Given the description of an element on the screen output the (x, y) to click on. 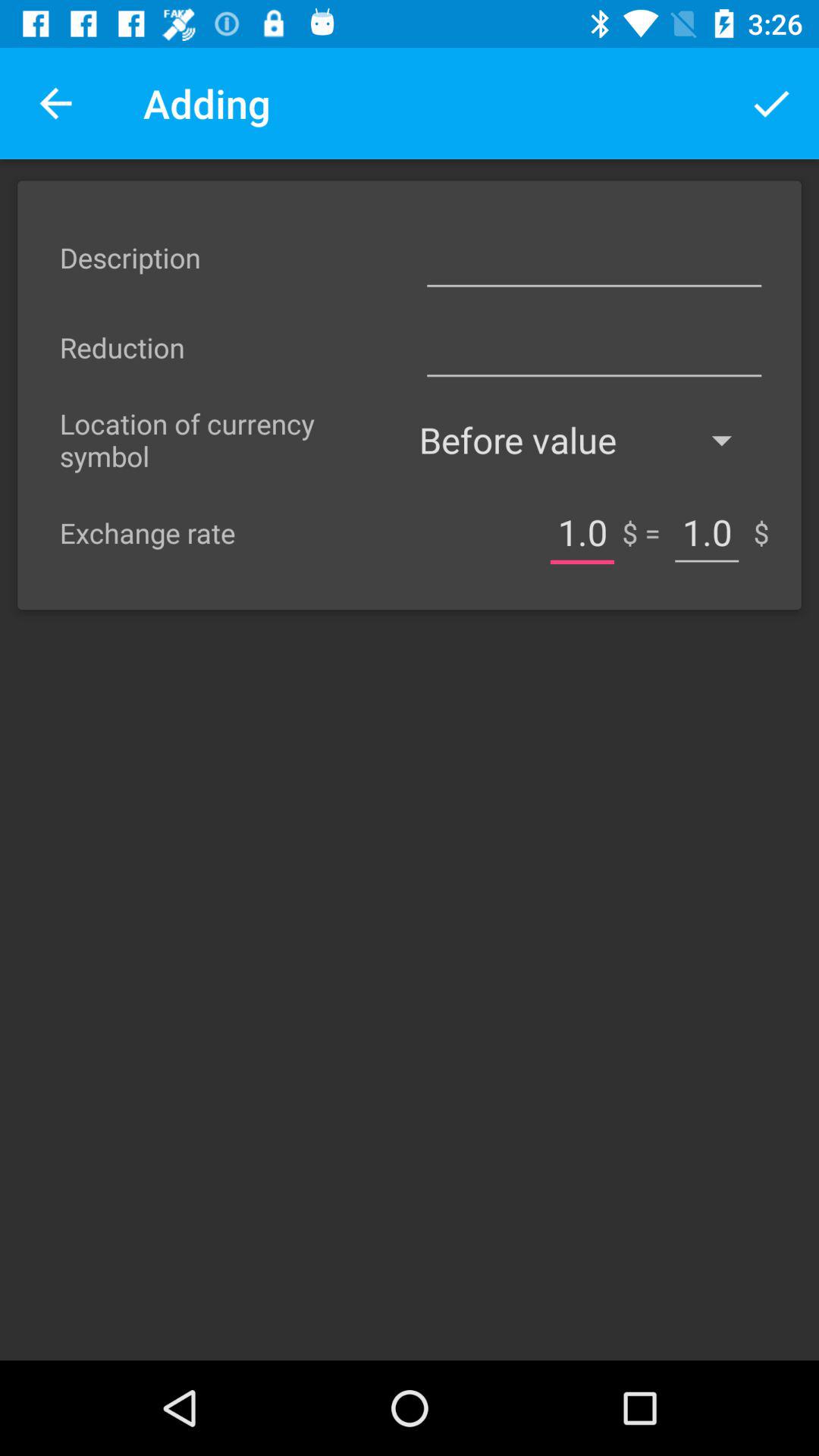
type in description (594, 257)
